Given the description of an element on the screen output the (x, y) to click on. 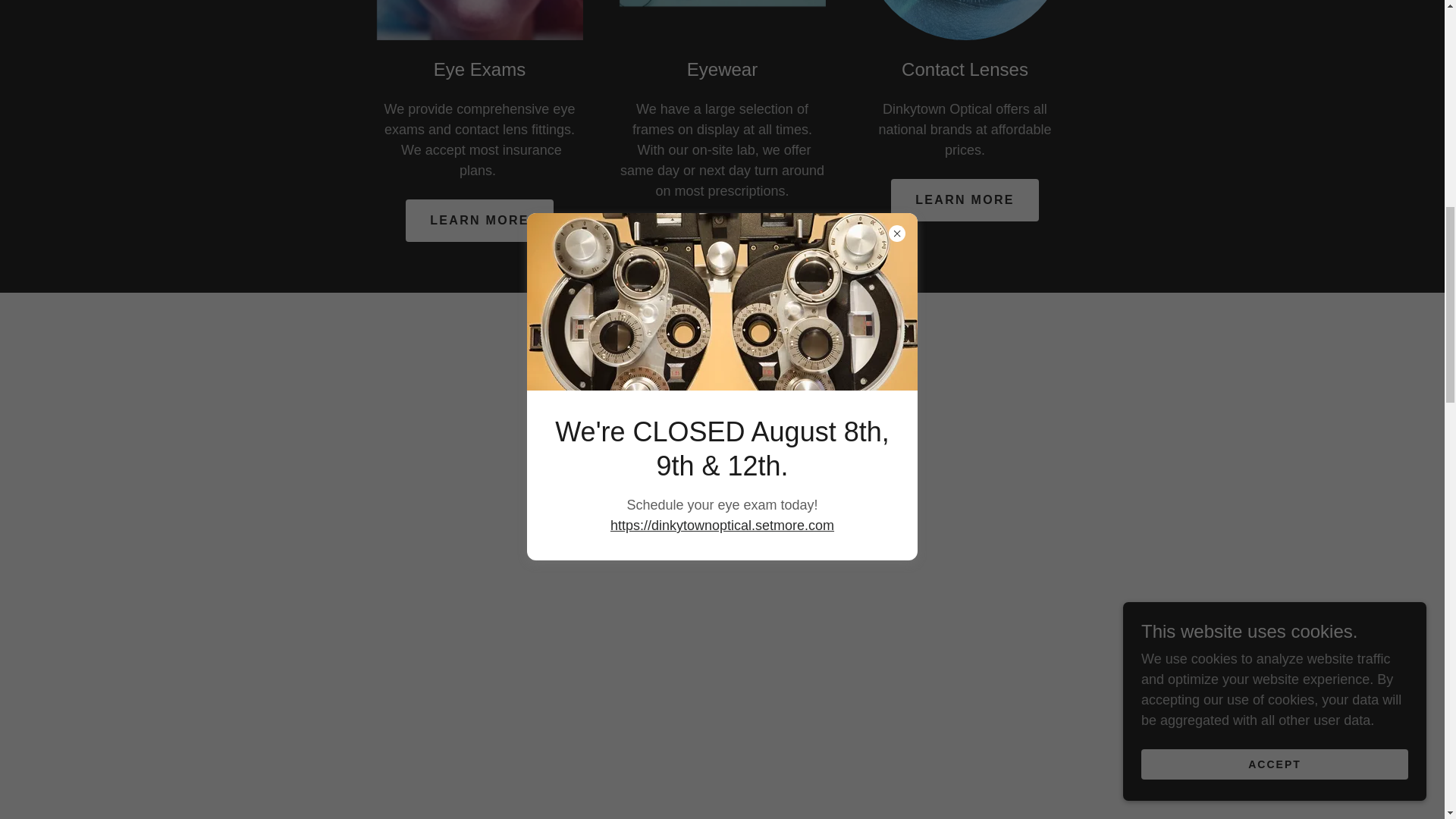
LEARN MORE (720, 241)
LEARN MORE (479, 220)
LEARN MORE (964, 200)
